Given the description of an element on the screen output the (x, y) to click on. 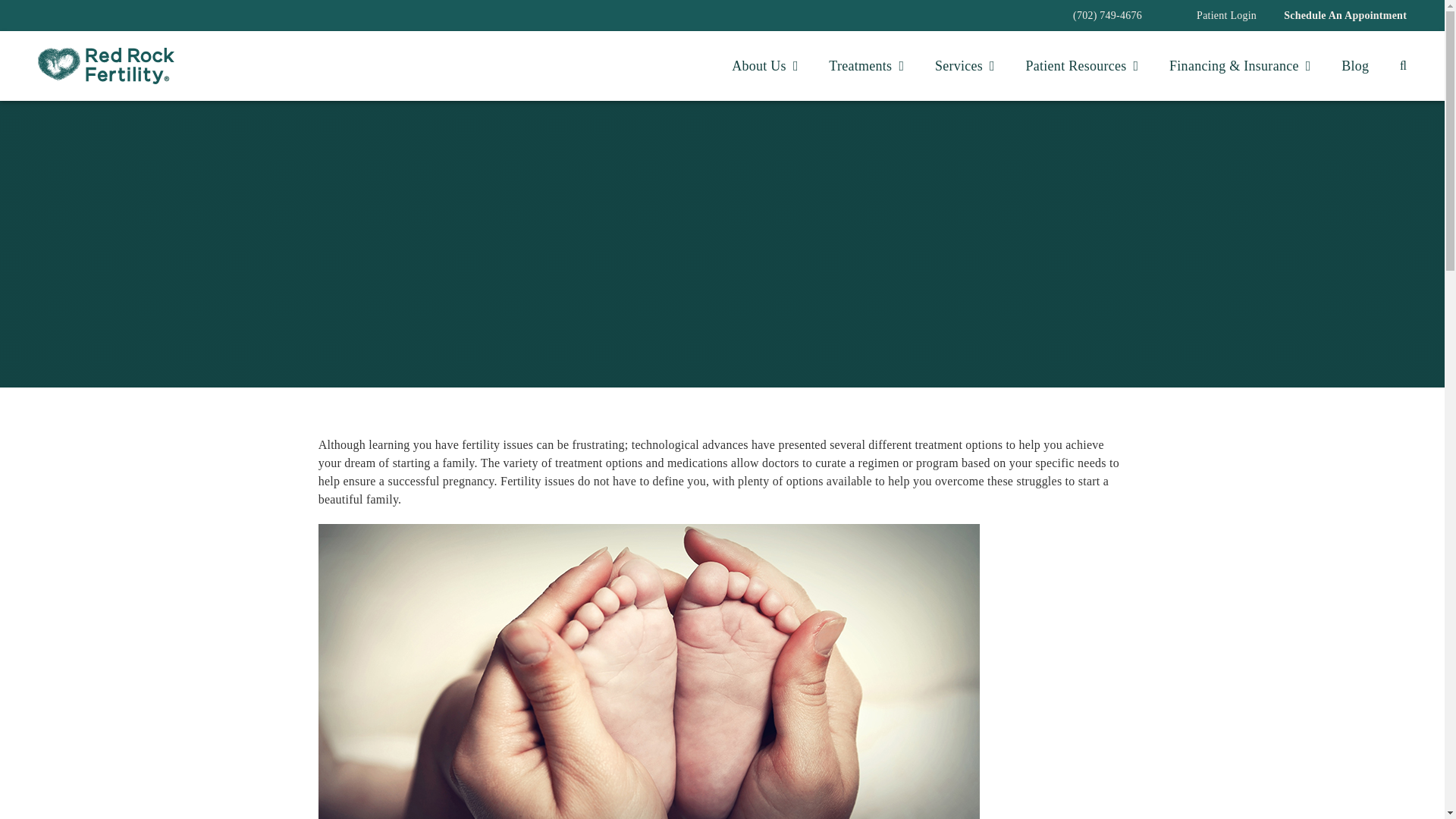
Patient Login (1226, 15)
About Us (764, 66)
Services (964, 66)
Treatments (866, 66)
Schedule An Appointment (1345, 15)
Patient Resources (1082, 66)
